Given the description of an element on the screen output the (x, y) to click on. 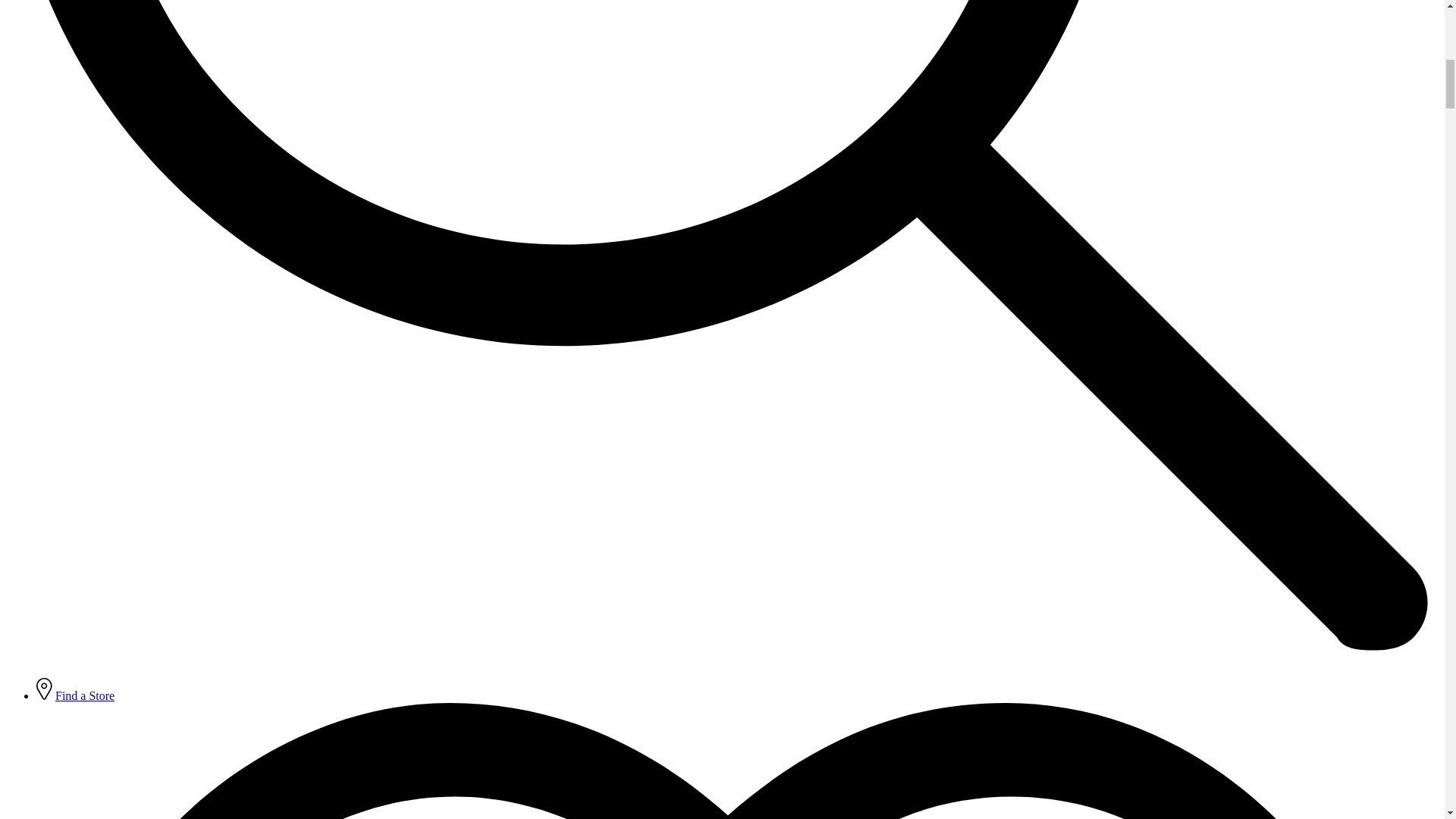
Find a Store (85, 695)
